Given the description of an element on the screen output the (x, y) to click on. 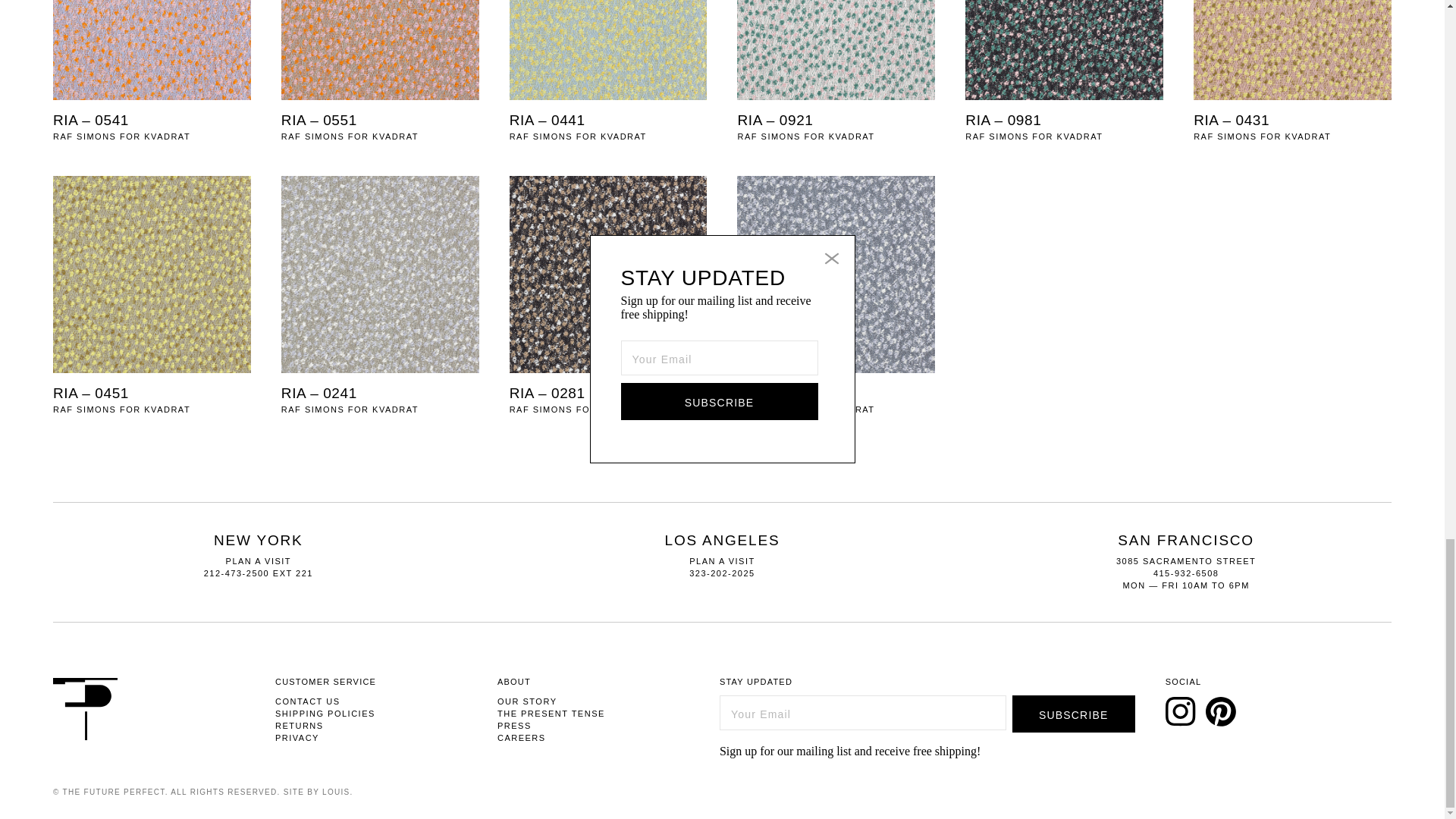
Subscribe (1073, 713)
Subscribe (1073, 713)
Your Email (862, 712)
